Given the description of an element on the screen output the (x, y) to click on. 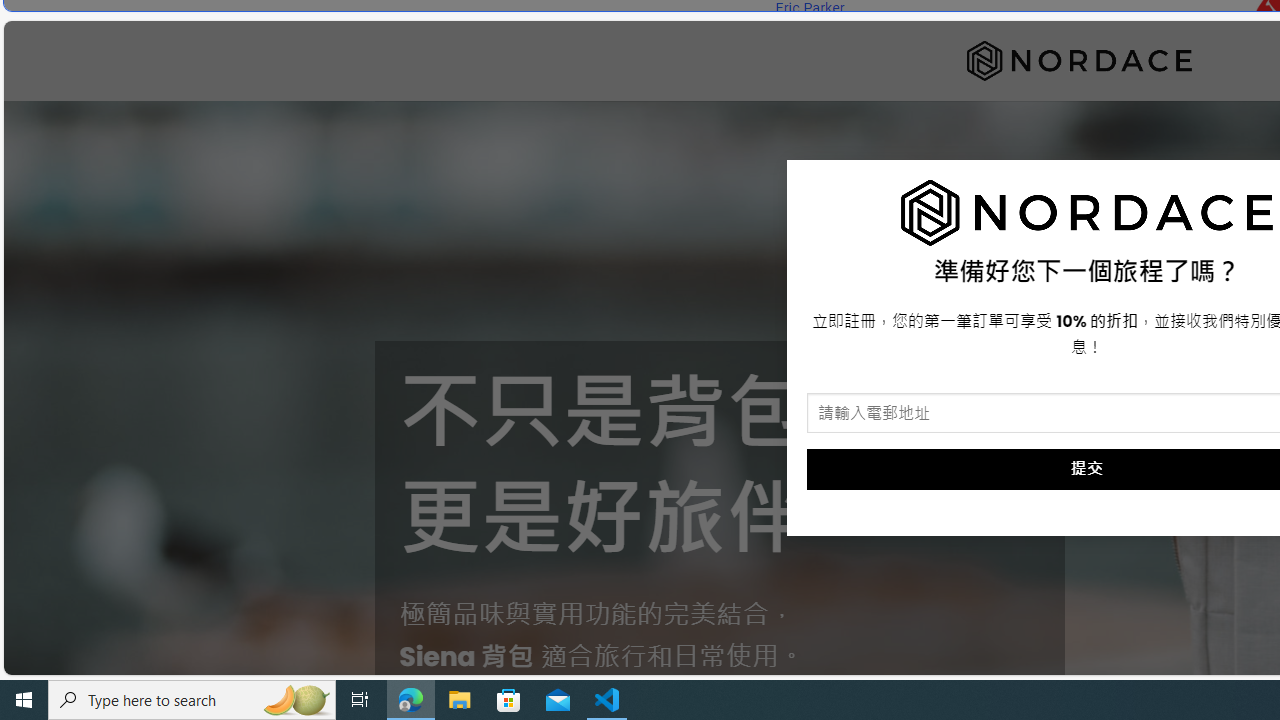
Eric Parker (809, 8)
